Given the description of an element on the screen output the (x, y) to click on. 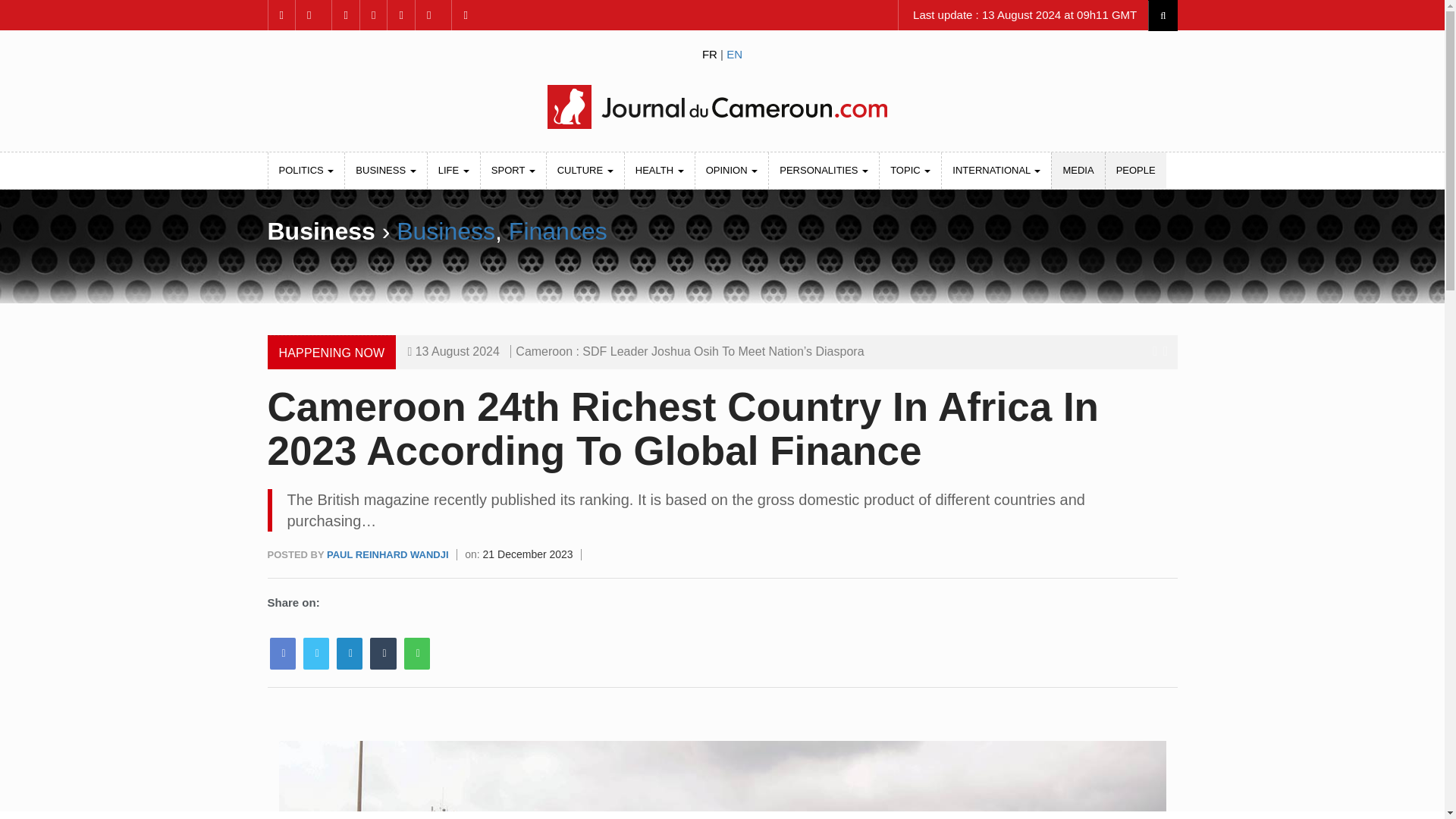
Last update : 13 August 2024 at 09h11 GMT (1023, 15)
FR (709, 53)
EN (734, 53)
BUSINESS (385, 170)
JDC (721, 106)
POLITICS (306, 170)
